Given the description of an element on the screen output the (x, y) to click on. 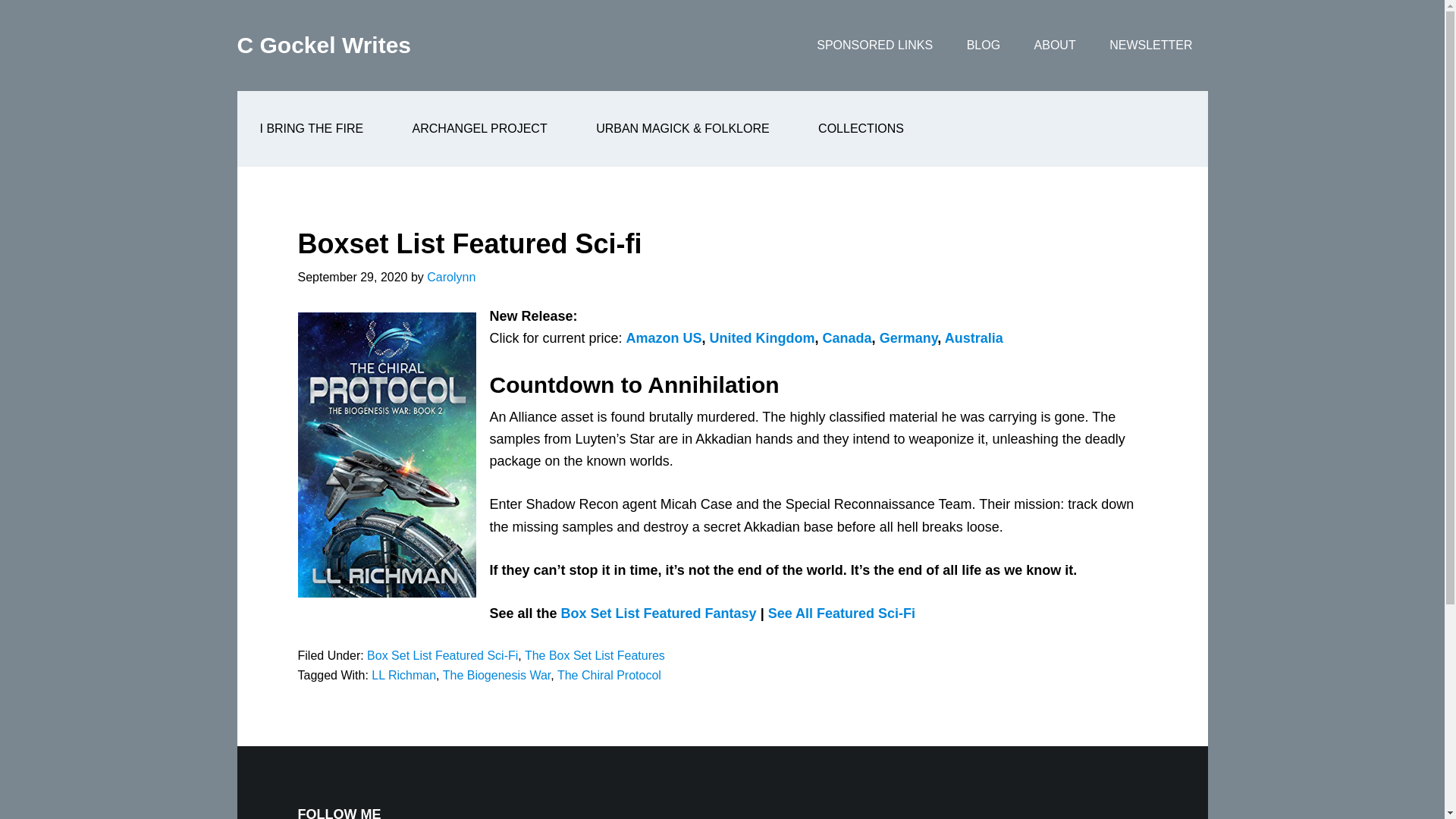
ARCHANGEL PROJECT (480, 128)
Carolynn (451, 277)
Canada (847, 337)
I BRING THE FIRE (310, 128)
C Gockel Writes (322, 44)
United Kingdom (762, 337)
See All Featured Sci-Fi (841, 613)
LL Richman (403, 675)
The Box Set List Features (594, 655)
BLOG (983, 45)
ABOUT (1054, 45)
Australia (973, 337)
Germany (908, 337)
Box Set List Featured Fantasy (658, 613)
The Chiral Protocol (609, 675)
